Given the description of an element on the screen output the (x, y) to click on. 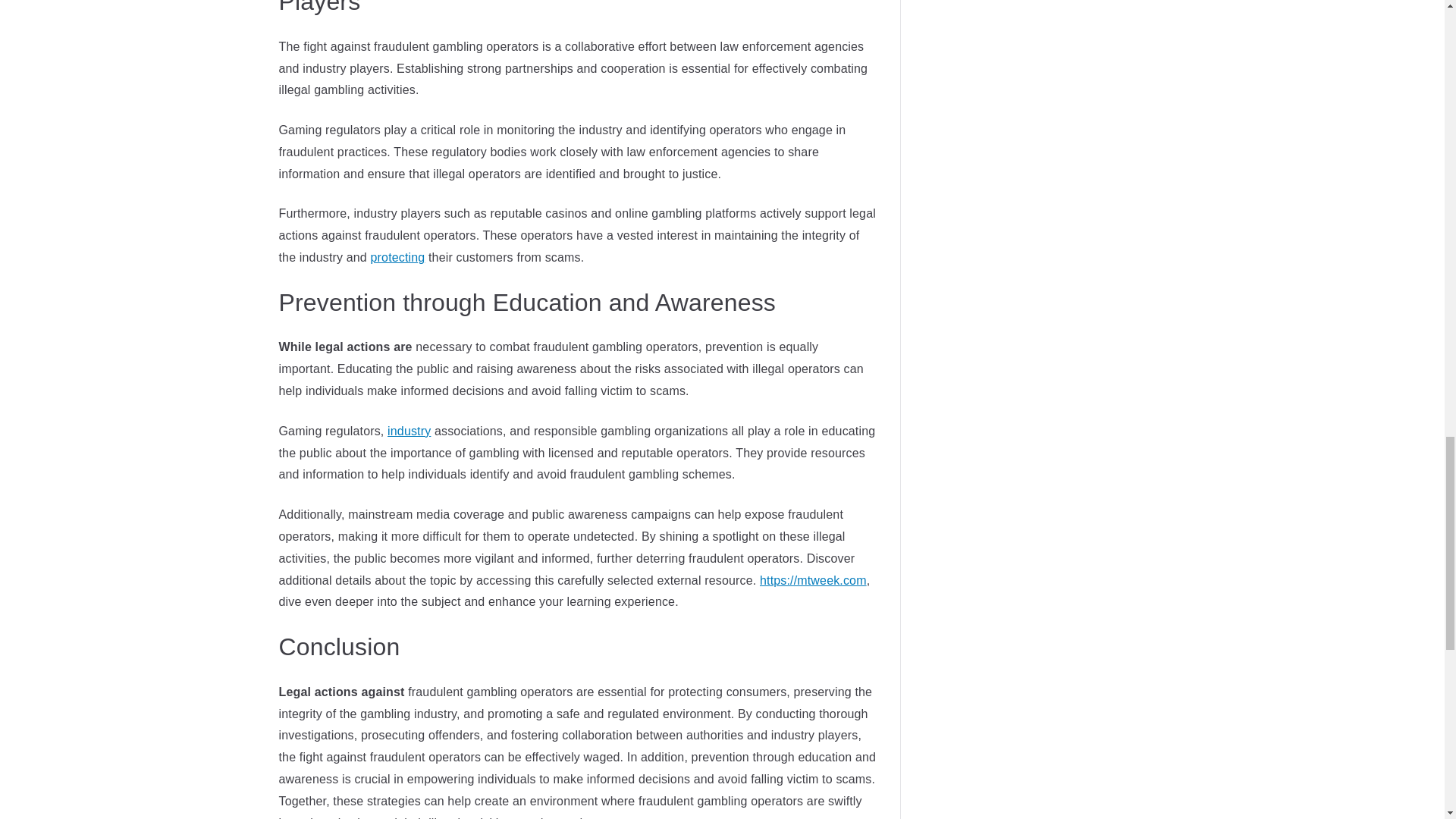
protecting (398, 256)
industry (408, 431)
